Given the description of an element on the screen output the (x, y) to click on. 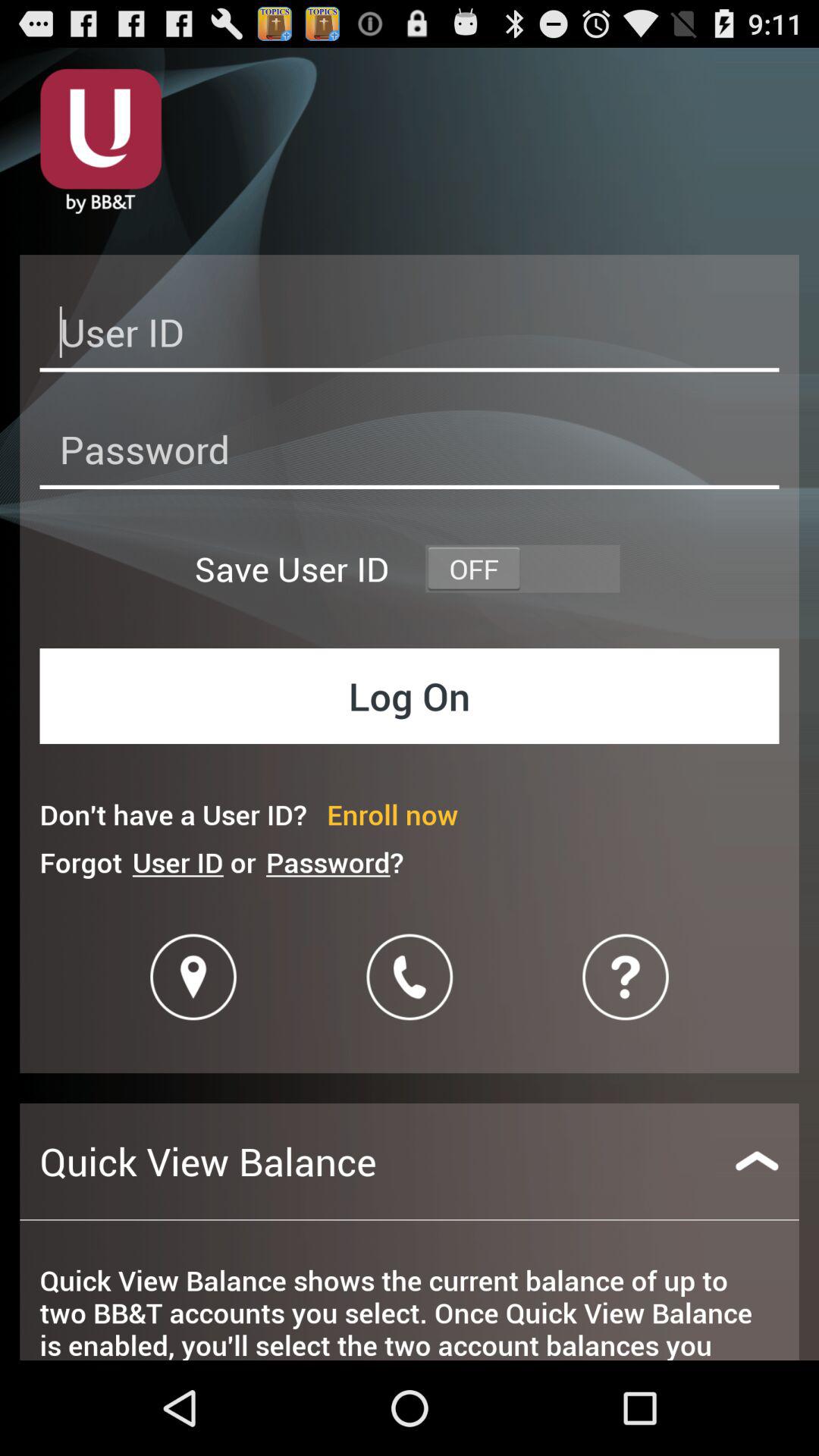
enter user id (409, 336)
